Given the description of an element on the screen output the (x, y) to click on. 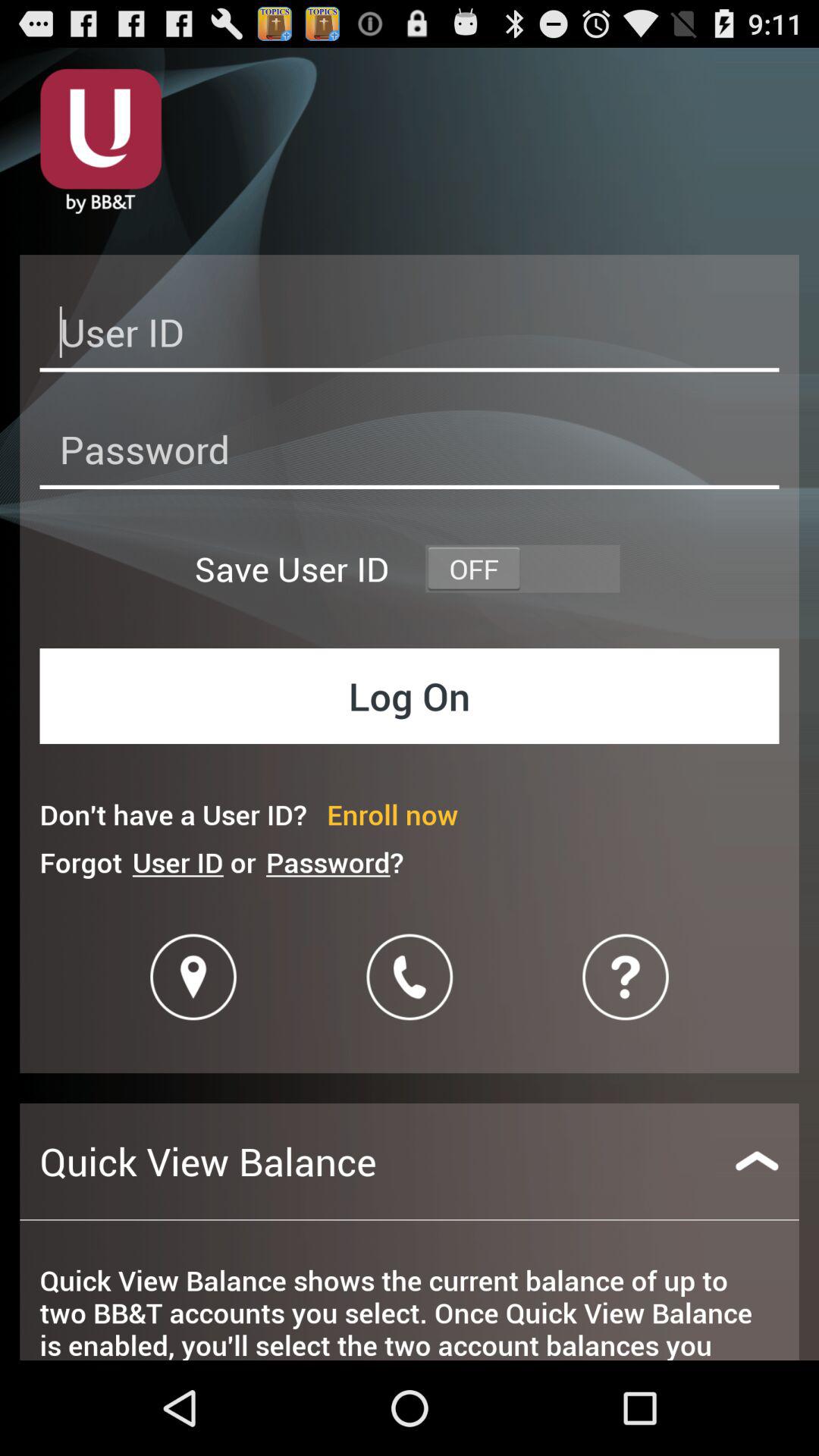
enter user id (409, 336)
